Given the description of an element on the screen output the (x, y) to click on. 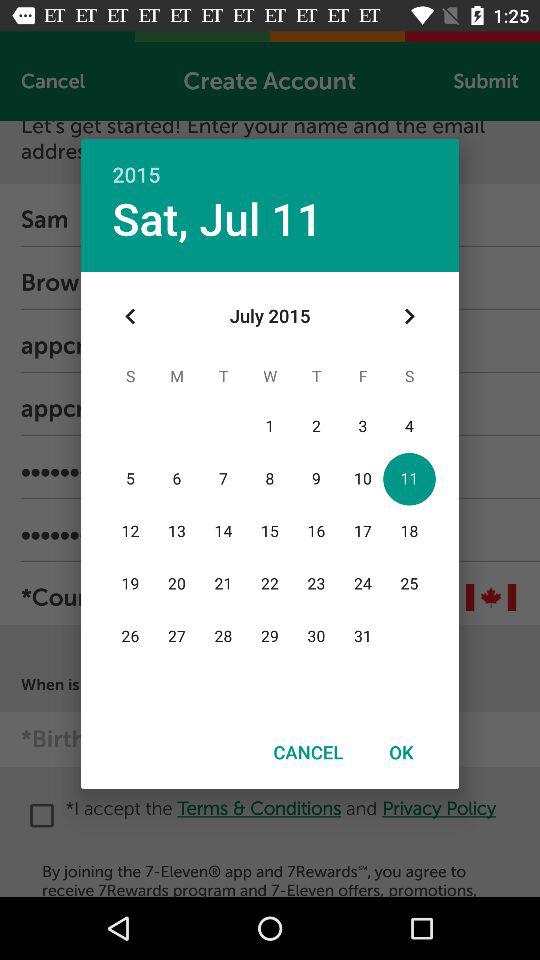
open item above sat, jul 11 icon (269, 163)
